Given the description of an element on the screen output the (x, y) to click on. 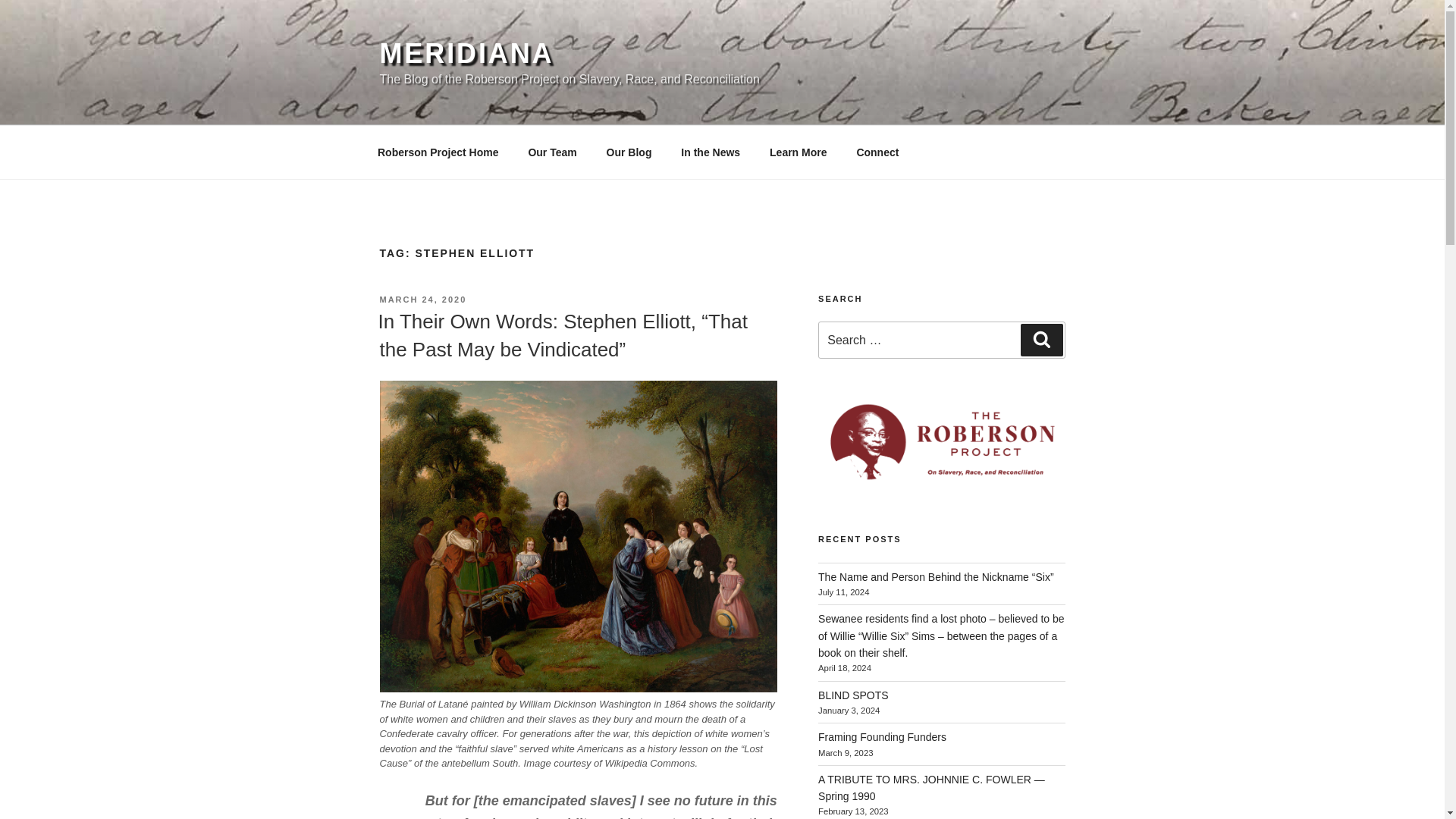
Our Blog (628, 151)
Roberson Project Home (437, 151)
Framing Founding Funders (882, 736)
MARCH 24, 2020 (421, 298)
In the News (711, 151)
MERIDIANA (465, 52)
Search (1041, 339)
BLIND SPOTS (853, 695)
Learn More (798, 151)
Connect (877, 151)
Our Team (552, 151)
